Given the description of an element on the screen output the (x, y) to click on. 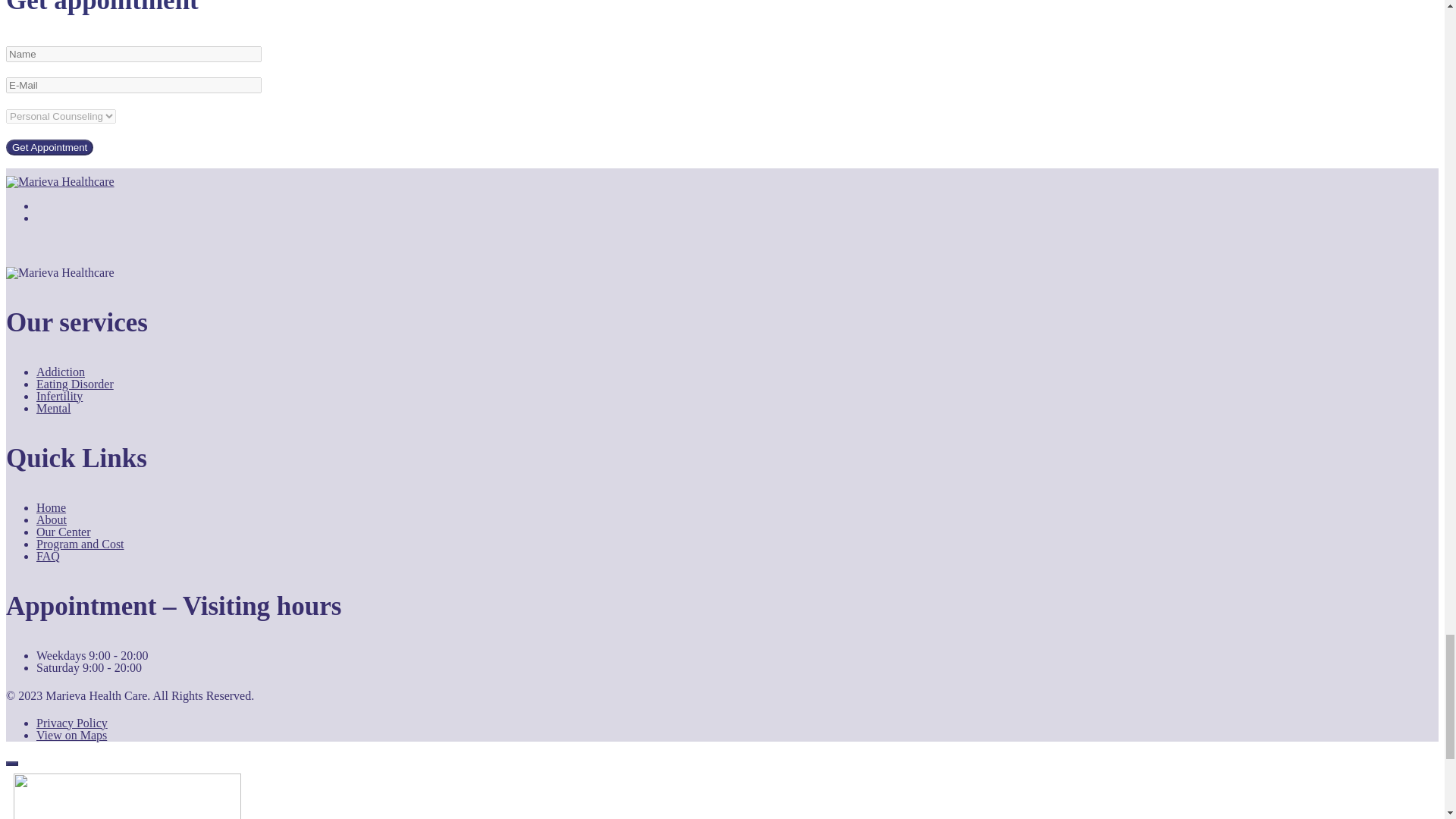
Get Appointment (49, 147)
